Given the description of an element on the screen output the (x, y) to click on. 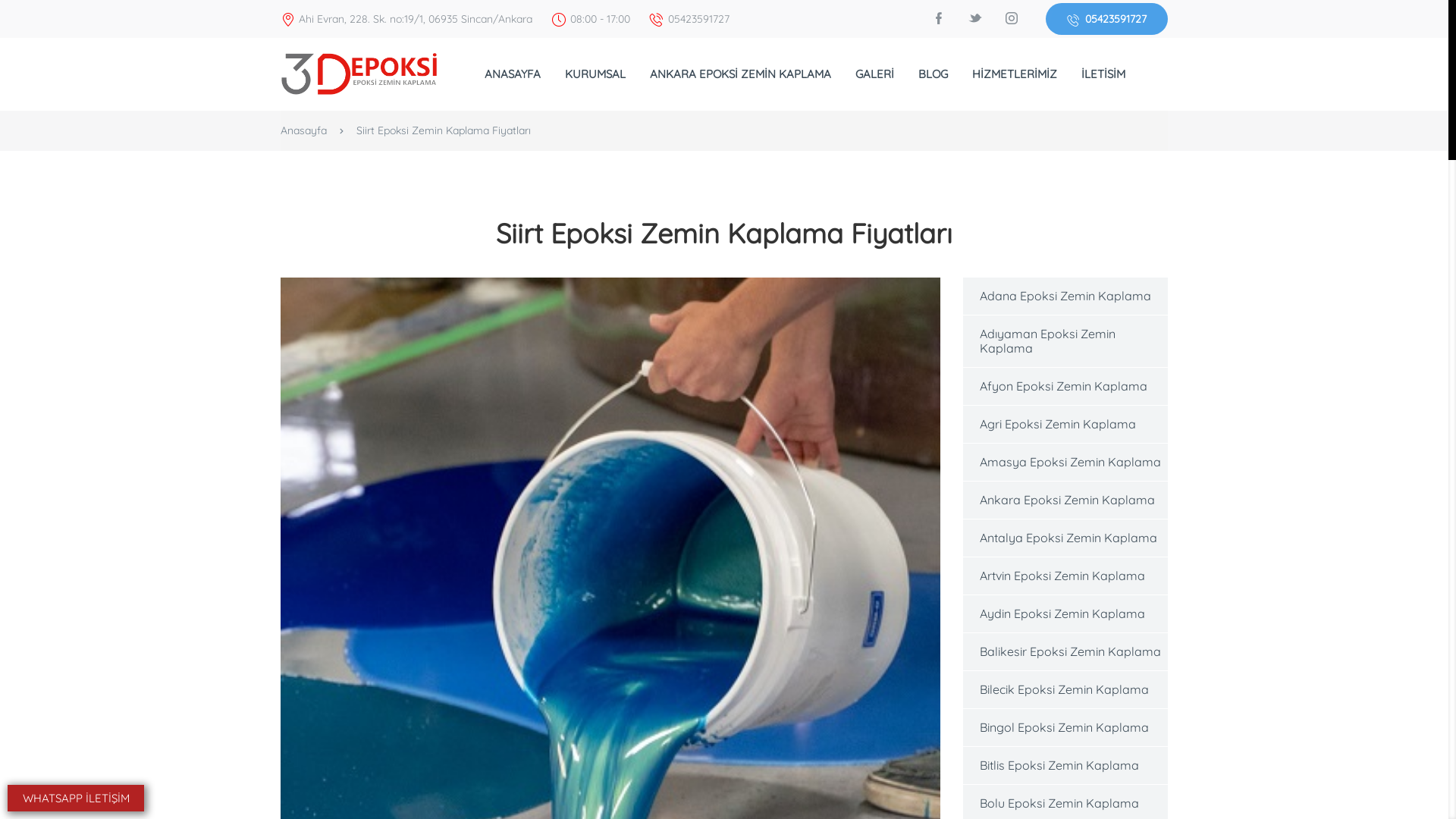
facebook Element type: hover (938, 17)
Aydin Epoksi Zemin Kaplama Element type: text (1065, 613)
Bilecik Epoksi Zemin Kaplama Element type: text (1065, 689)
ANKARA EPOKSI ZEMIN KAPLAMA Element type: text (739, 74)
BLOG Element type: text (932, 74)
Balikesir Epoksi Zemin Kaplama Element type: text (1065, 651)
ANASAYFA Element type: text (511, 74)
Ankara Epoksi Zemin Kaplama Element type: text (1065, 499)
Artvin Epoksi Zemin Kaplama Element type: text (1065, 575)
Adana Epoksi Zemin Kaplama Element type: text (1065, 295)
05423591727 Element type: text (1106, 18)
Amasya Epoksi Zemin Kaplama Element type: text (1065, 461)
Bingol Epoksi Zemin Kaplama Element type: text (1065, 727)
Anasayfa Element type: text (303, 130)
Bitlis Epoksi Zemin Kaplama Element type: text (1065, 765)
Antalya Epoksi Zemin Kaplama Element type: text (1065, 537)
instagram Element type: hover (1011, 17)
Afyon Epoksi Zemin Kaplama Element type: text (1065, 385)
KURUMSAL Element type: text (594, 74)
3D Epoksi Element type: hover (359, 72)
twitter Element type: hover (974, 17)
Agri Epoksi Zemin Kaplama Element type: text (1065, 423)
